Given the description of an element on the screen output the (x, y) to click on. 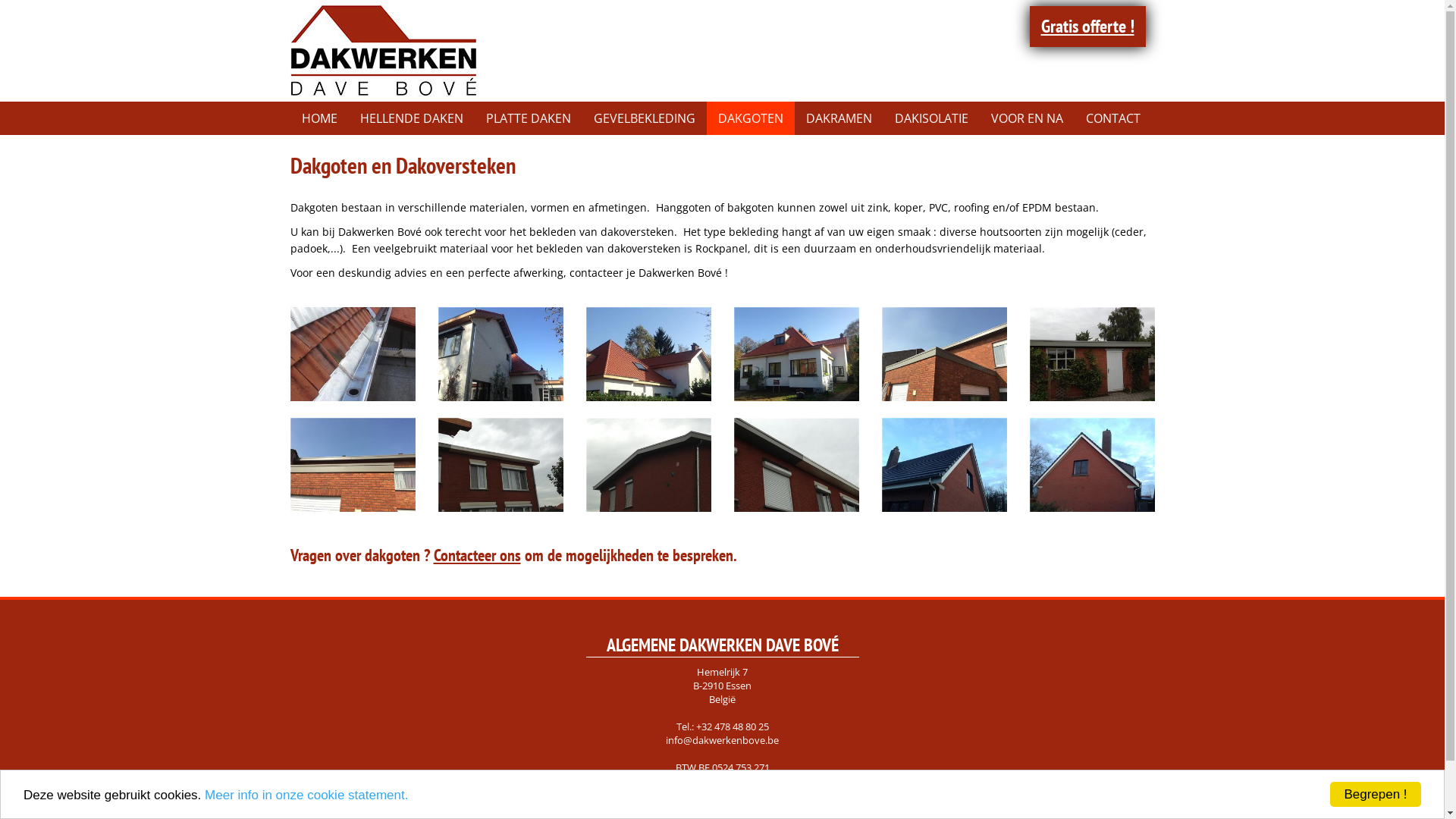
CONTACT Element type: text (1112, 117)
Contacteer ons Element type: text (476, 554)
PLATTE DAKEN Element type: text (528, 117)
HOME Element type: text (318, 117)
Meer info in onze cookie statement. Element type: text (305, 794)
DAKRAMEN Element type: text (838, 117)
VOOR EN NA Element type: text (1026, 117)
GEVELBEKLEDING Element type: text (644, 117)
info@dakwerkenbove.be Element type: text (721, 739)
HELLENDE DAKEN Element type: text (411, 117)
Begrepen ! Element type: text (1375, 793)
DAKISOLATIE Element type: text (930, 117)
Privacy & Cookie statement Element type: text (721, 780)
Gratis offerte ! Element type: text (1087, 26)
DAKGOTEN Element type: text (750, 117)
